Given the description of an element on the screen output the (x, y) to click on. 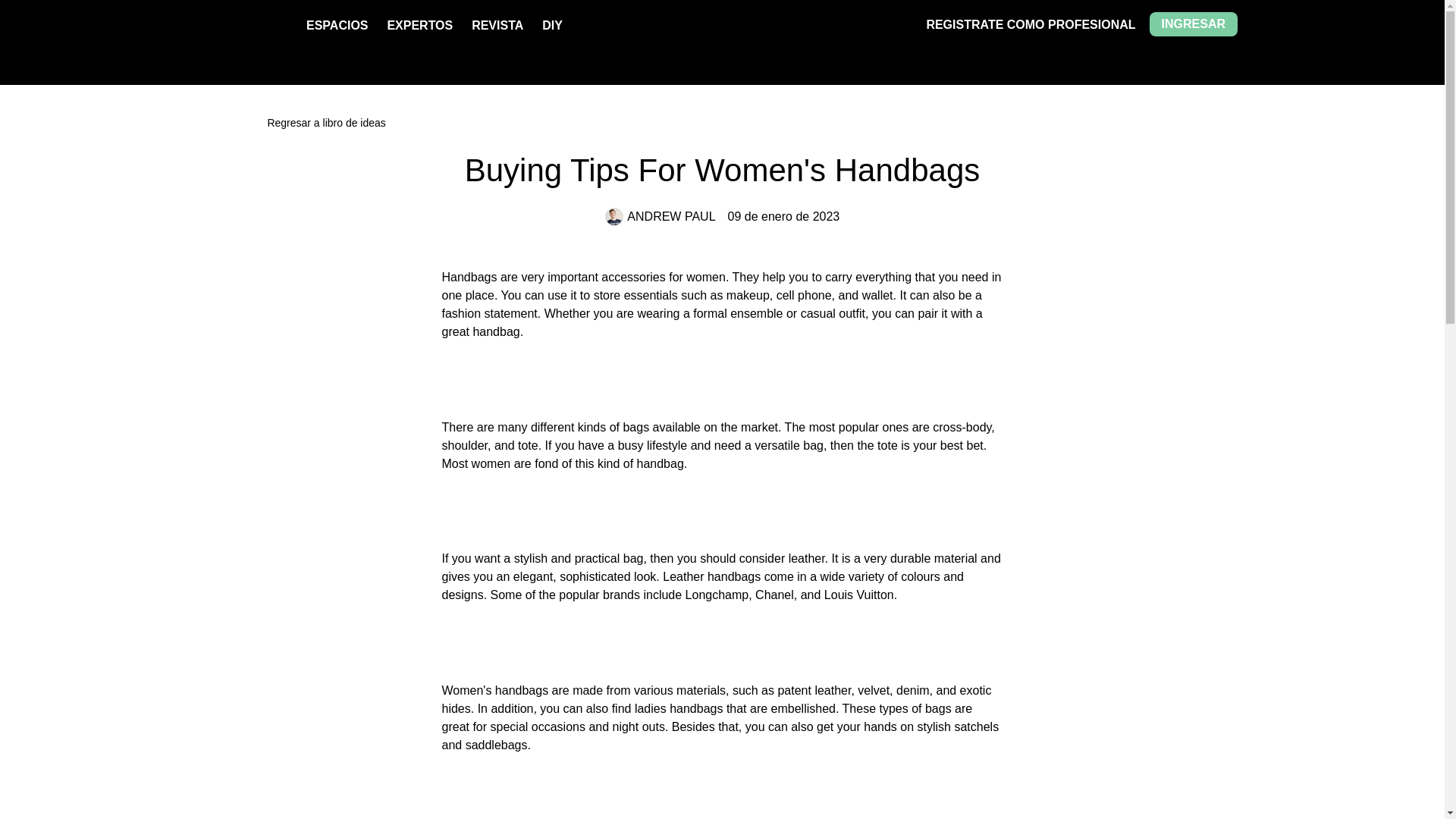
EXPERTOS (419, 25)
Regresar a libro de ideas (721, 122)
REVISTA (496, 25)
DIY (551, 25)
ANDREW PAUL (660, 217)
REGISTRATE COMO PROFESIONAL (1030, 23)
ESPACIOS (336, 25)
INGRESAR (1193, 24)
